Given the description of an element on the screen output the (x, y) to click on. 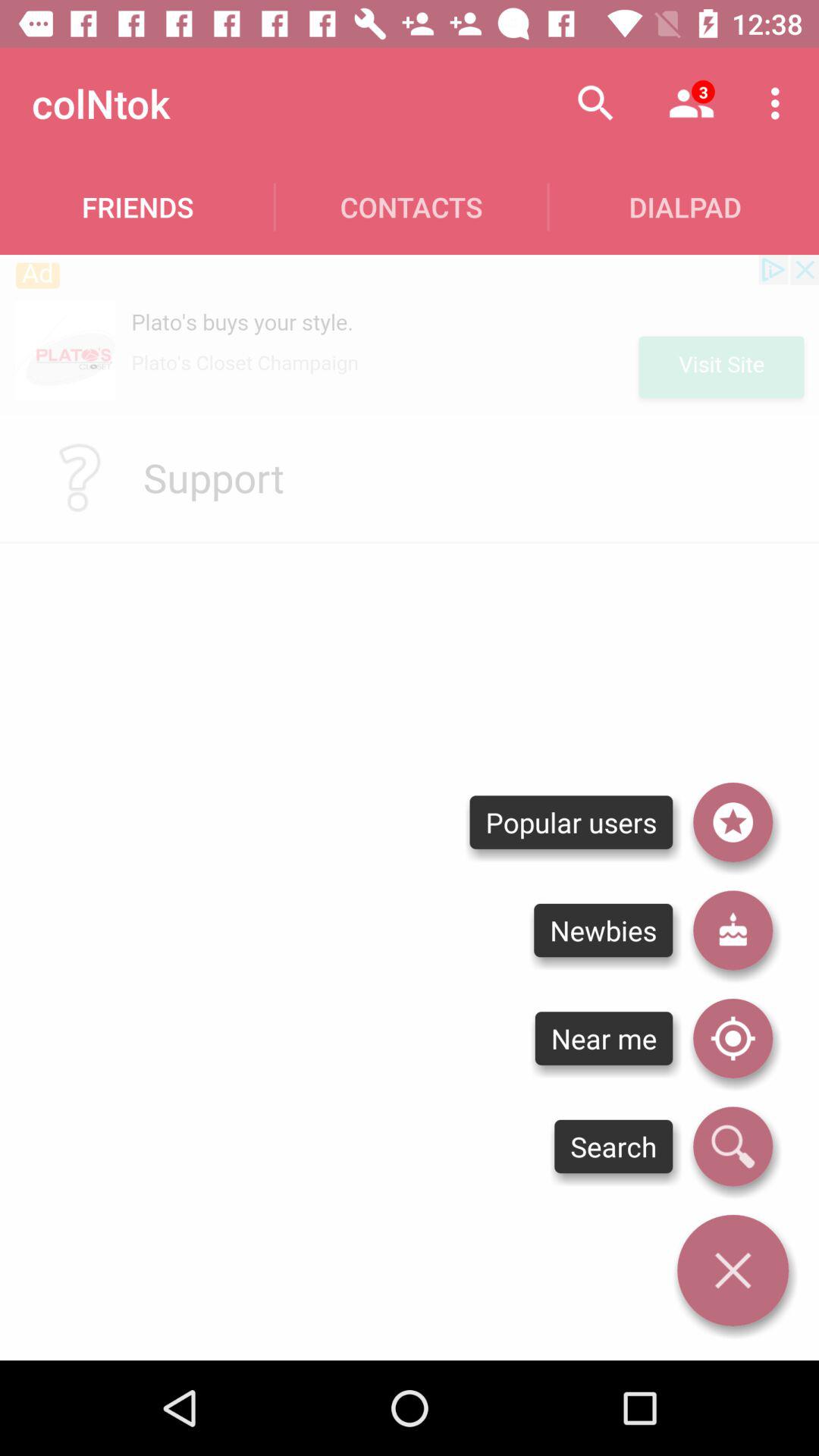
scroll to the newbies icon (603, 930)
